Given the description of an element on the screen output the (x, y) to click on. 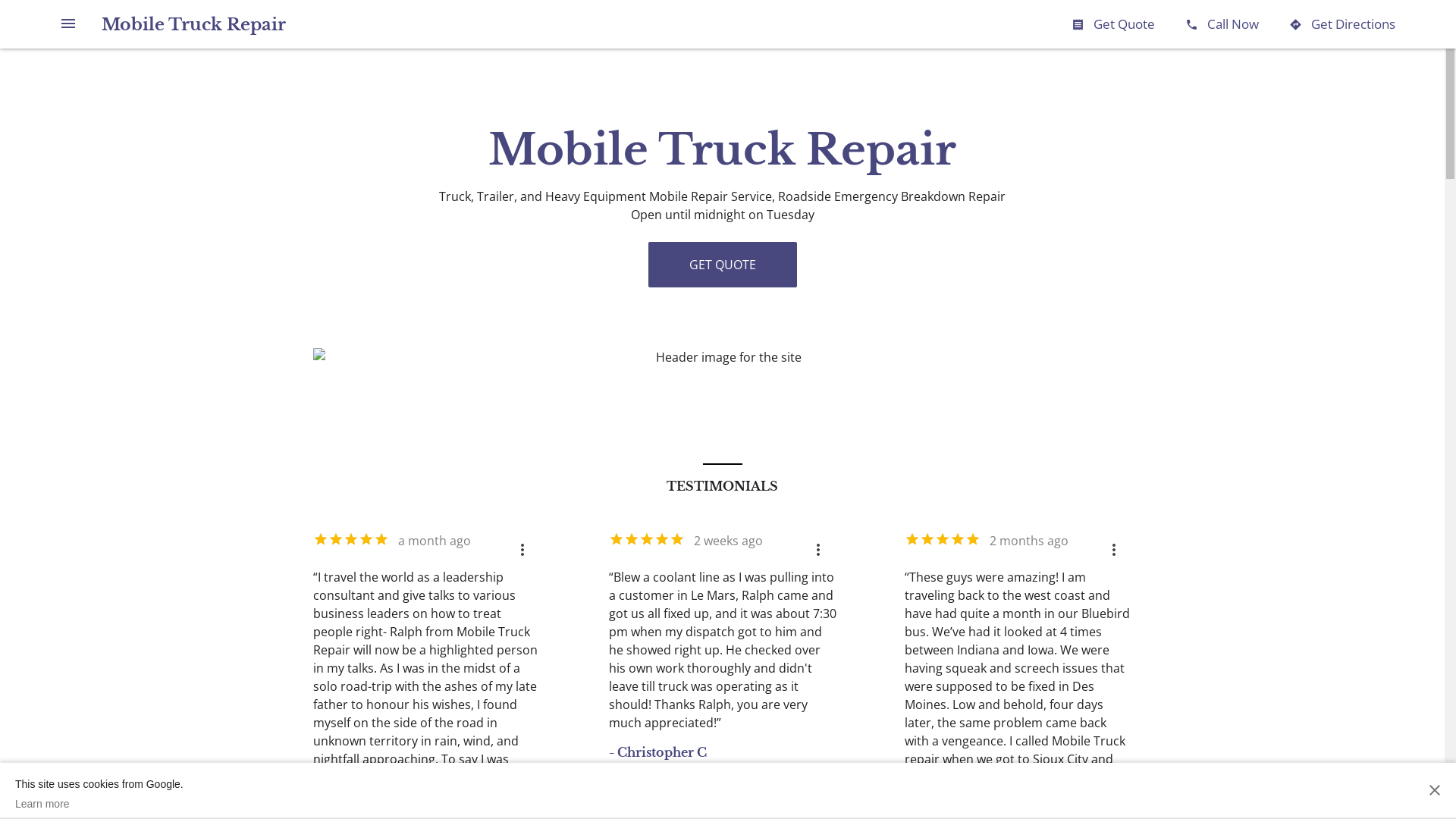
GET QUOTE Element type: text (721, 264)
Mobile Truck Repair Element type: text (193, 23)
Learn more Element type: text (99, 803)
